Given the description of an element on the screen output the (x, y) to click on. 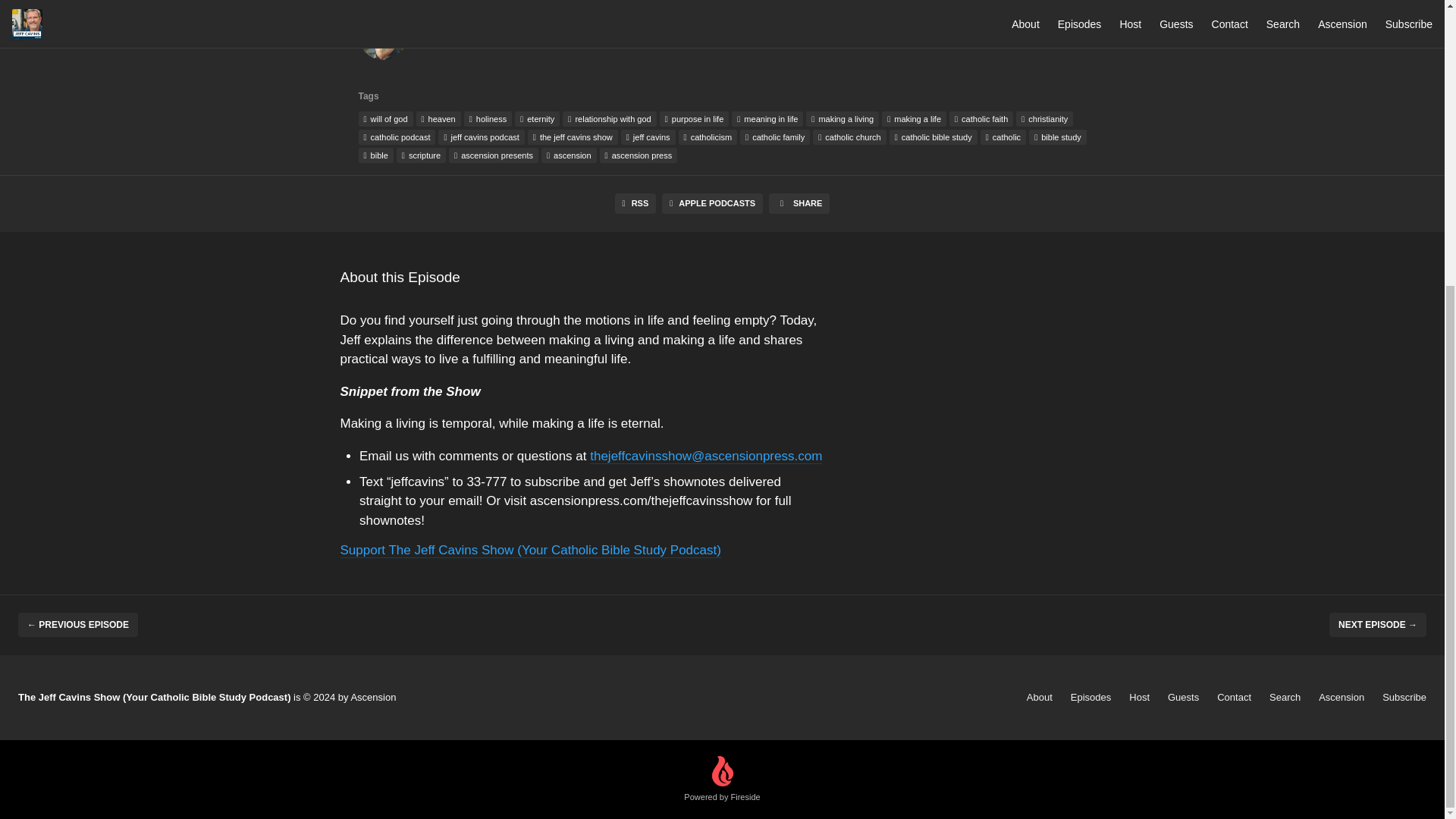
making a life (914, 118)
relationship with god (609, 118)
jeff cavins podcast (481, 136)
christianity (1044, 118)
will of god (385, 118)
eternity (537, 118)
holiness (488, 118)
Jeff Cavins (382, 38)
heaven (438, 118)
catholic podcast (396, 136)
meaning in life (767, 118)
catholic faith (981, 118)
making a living (842, 118)
purpose in life (694, 118)
Powered by Fireside (722, 779)
